Given the description of an element on the screen output the (x, y) to click on. 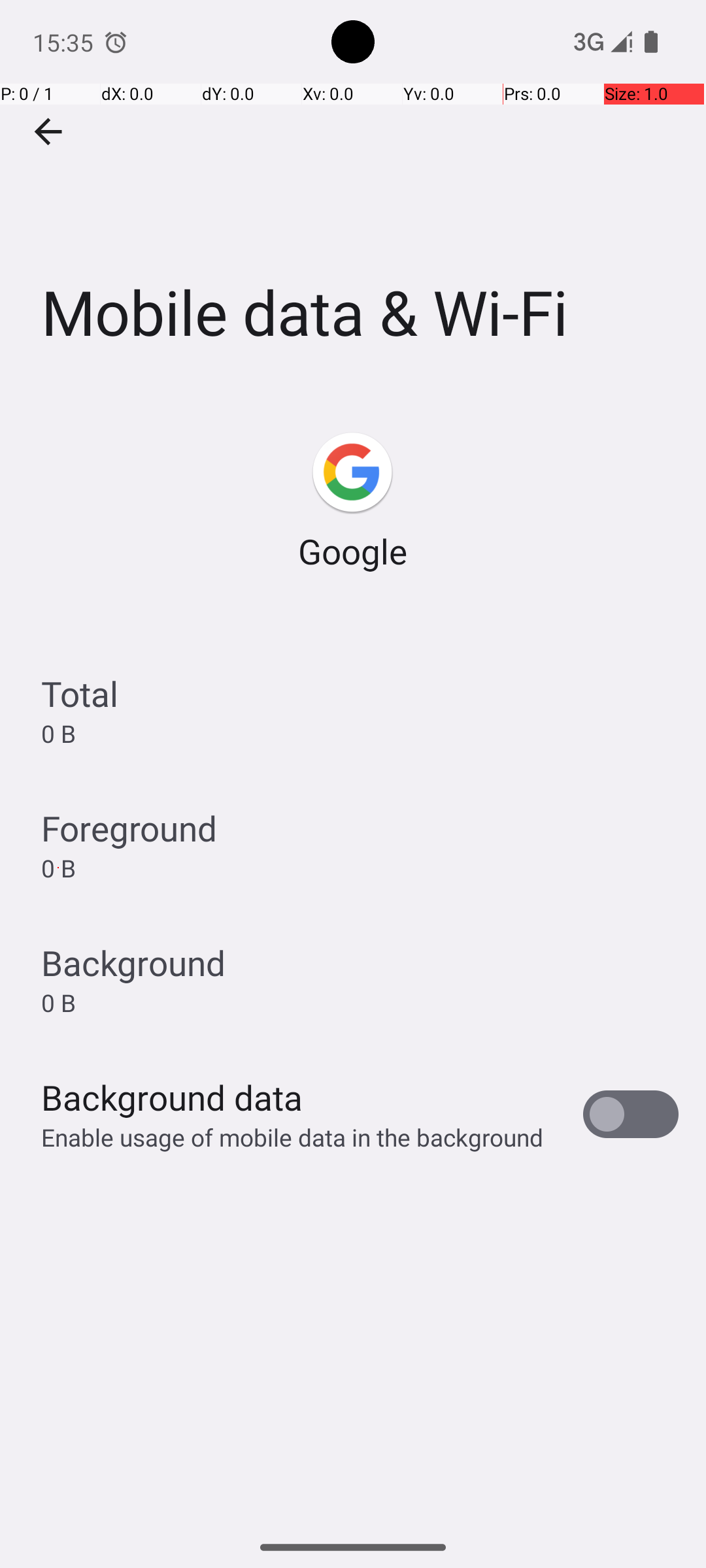
Background data Element type: android.widget.TextView (171, 1097)
Enable usage of mobile data in the background Element type: android.widget.TextView (292, 1136)
